Given the description of an element on the screen output the (x, y) to click on. 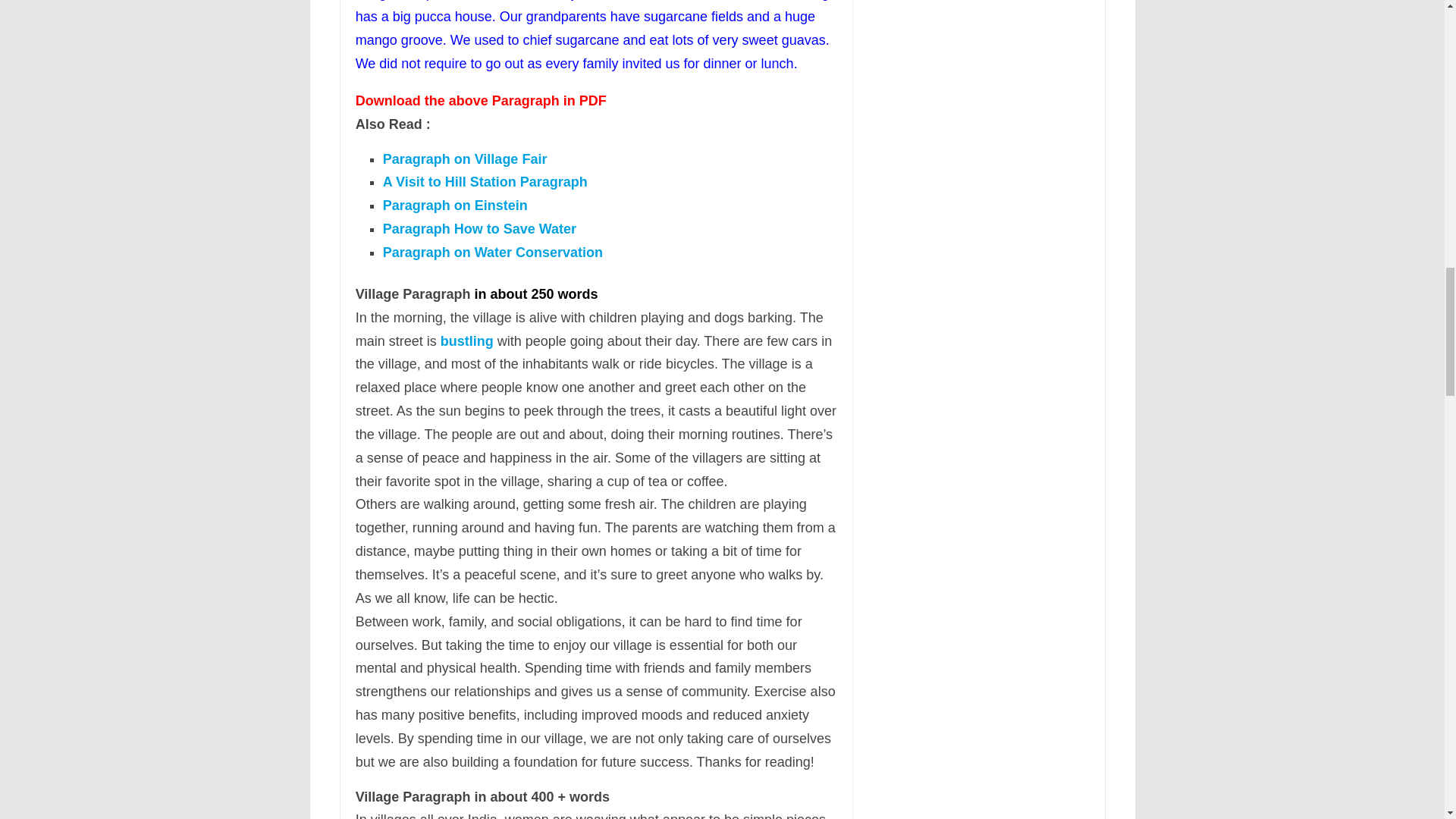
Paragraph on Village Fair (464, 159)
A Visit to Hill Station Paragraph (485, 181)
Download the above Paragraph in PDF (481, 100)
